Given the description of an element on the screen output the (x, y) to click on. 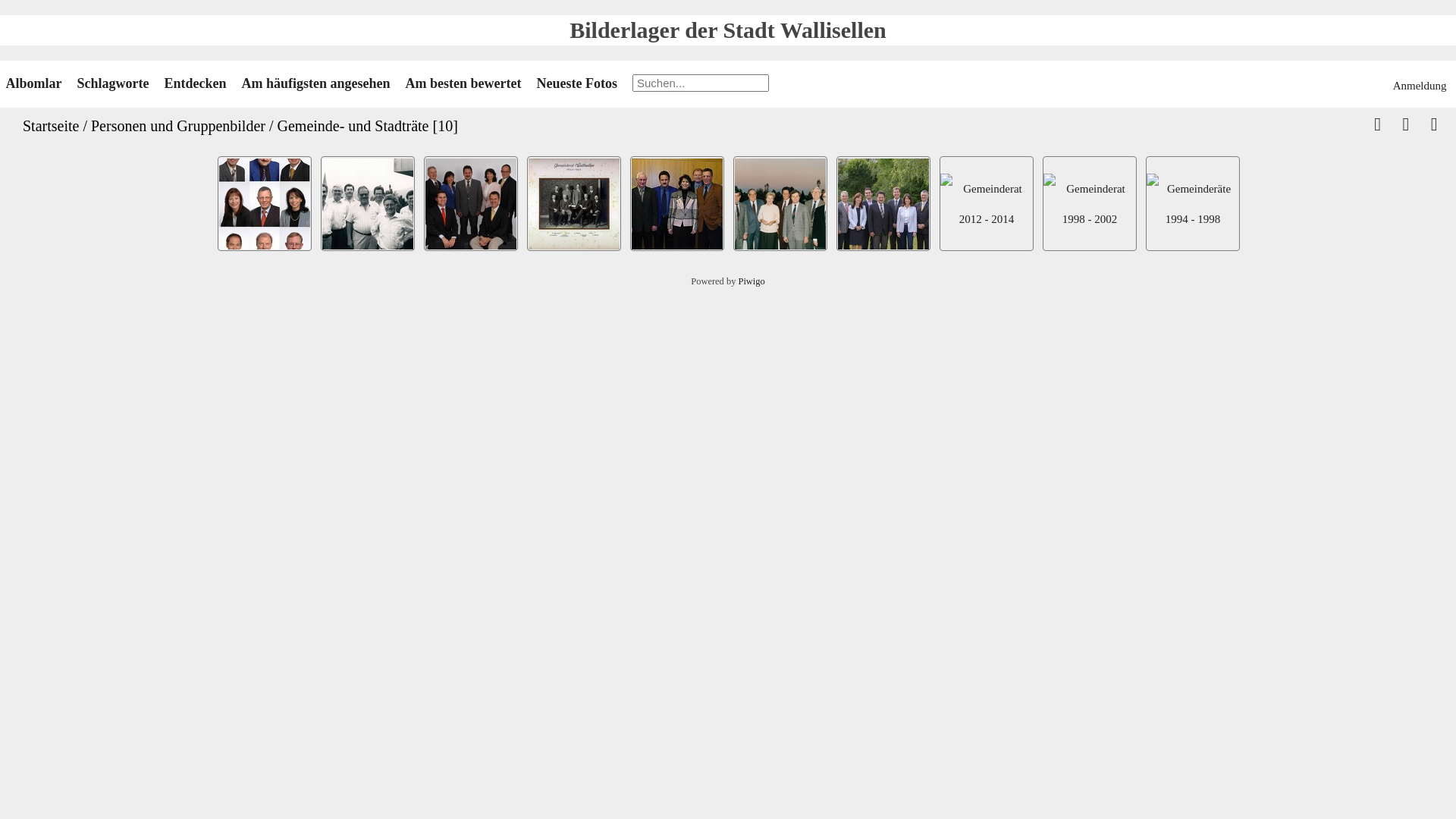
  (2684 besuche) OM44 Element type: hover (573, 203)
Entdecken Element type: text (196, 83)
Startseite Element type: text (50, 125)
Fotos nach Aufnahmedatum anzeigen Element type: hover (1433, 125)
Diashow Element type: hover (1405, 125)
Personen und Gruppenbilder Element type: text (178, 125)
Am besten bewertet Element type: text (465, 83)
Albomlar Element type: text (35, 83)
Schlagworte Element type: text (115, 83)
Anmeldung Element type: text (1421, 85)
Neueste Fotos Element type: text (578, 83)
Piwigo Element type: text (750, 281)
